Given the description of an element on the screen output the (x, y) to click on. 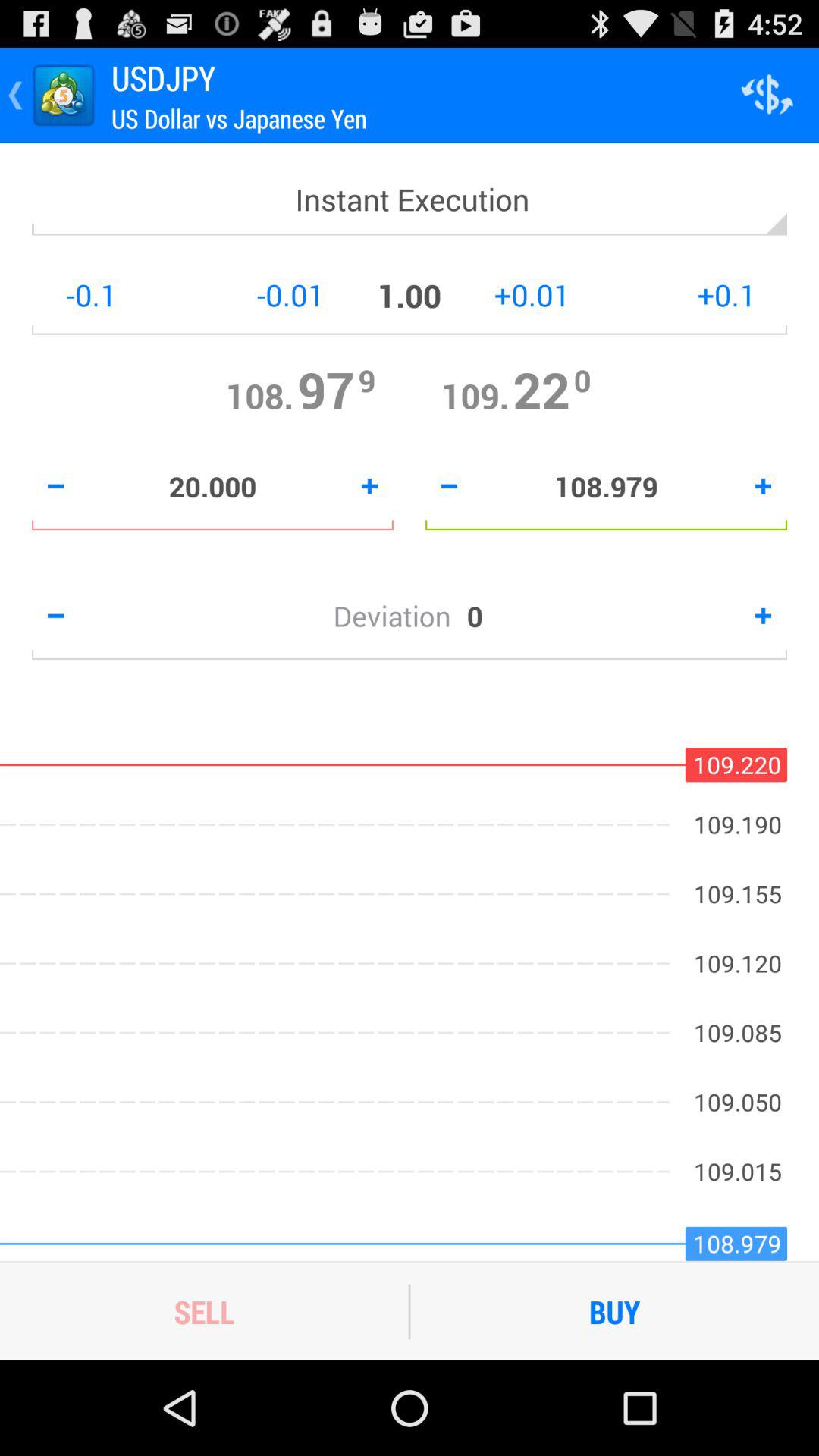
swipe to the deviation (399, 615)
